Given the description of an element on the screen output the (x, y) to click on. 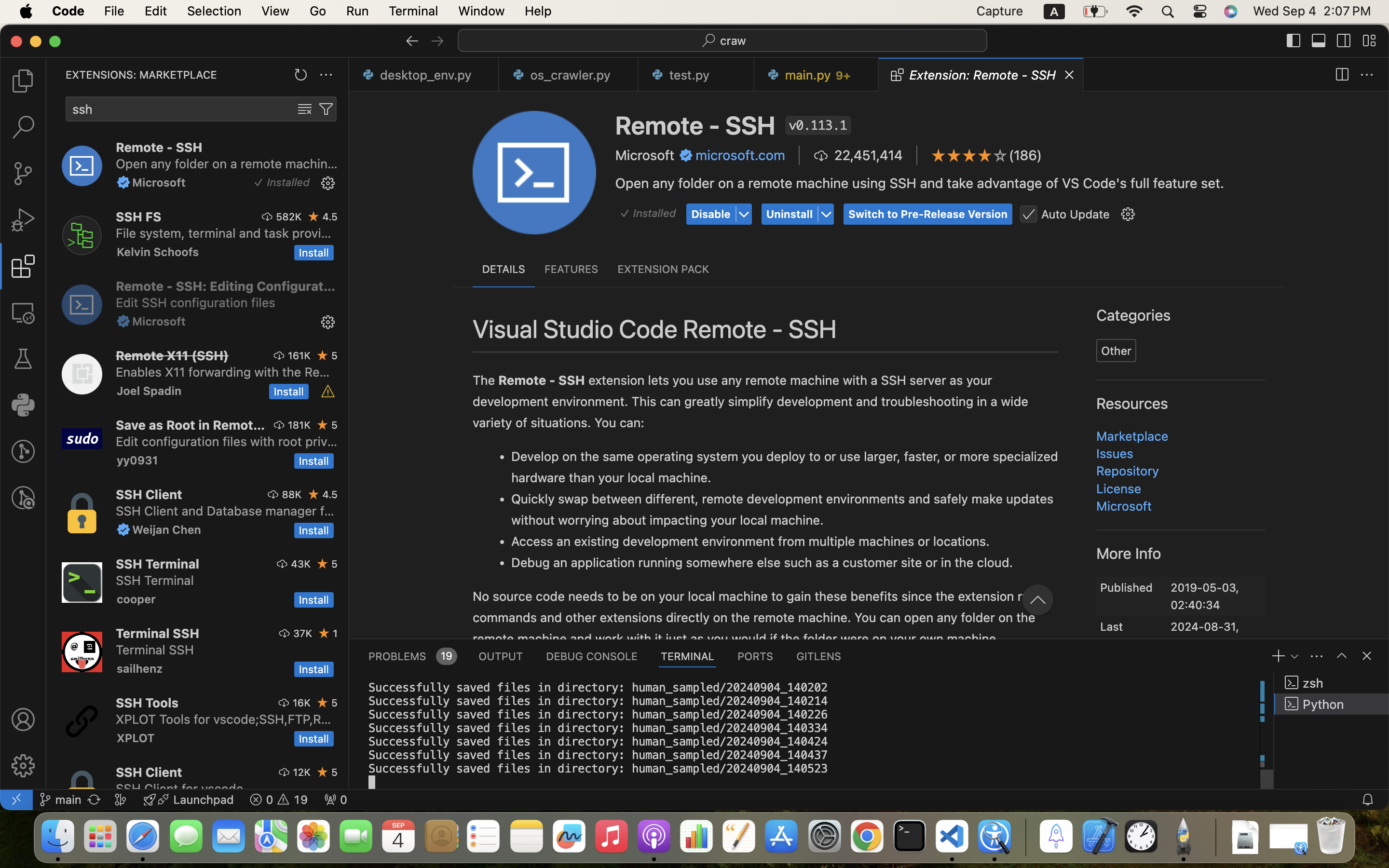
0  Element type: AXRadioButton (23, 173)
Installed Element type: AXStaticText (654, 213)
License Element type: AXStaticText (1119, 488)
Edit configuration files with root privileges while using the Remote - SSH extension Element type: AXStaticText (226, 441)
 Element type: AXCheckBox (1028, 214)
